Given the description of an element on the screen output the (x, y) to click on. 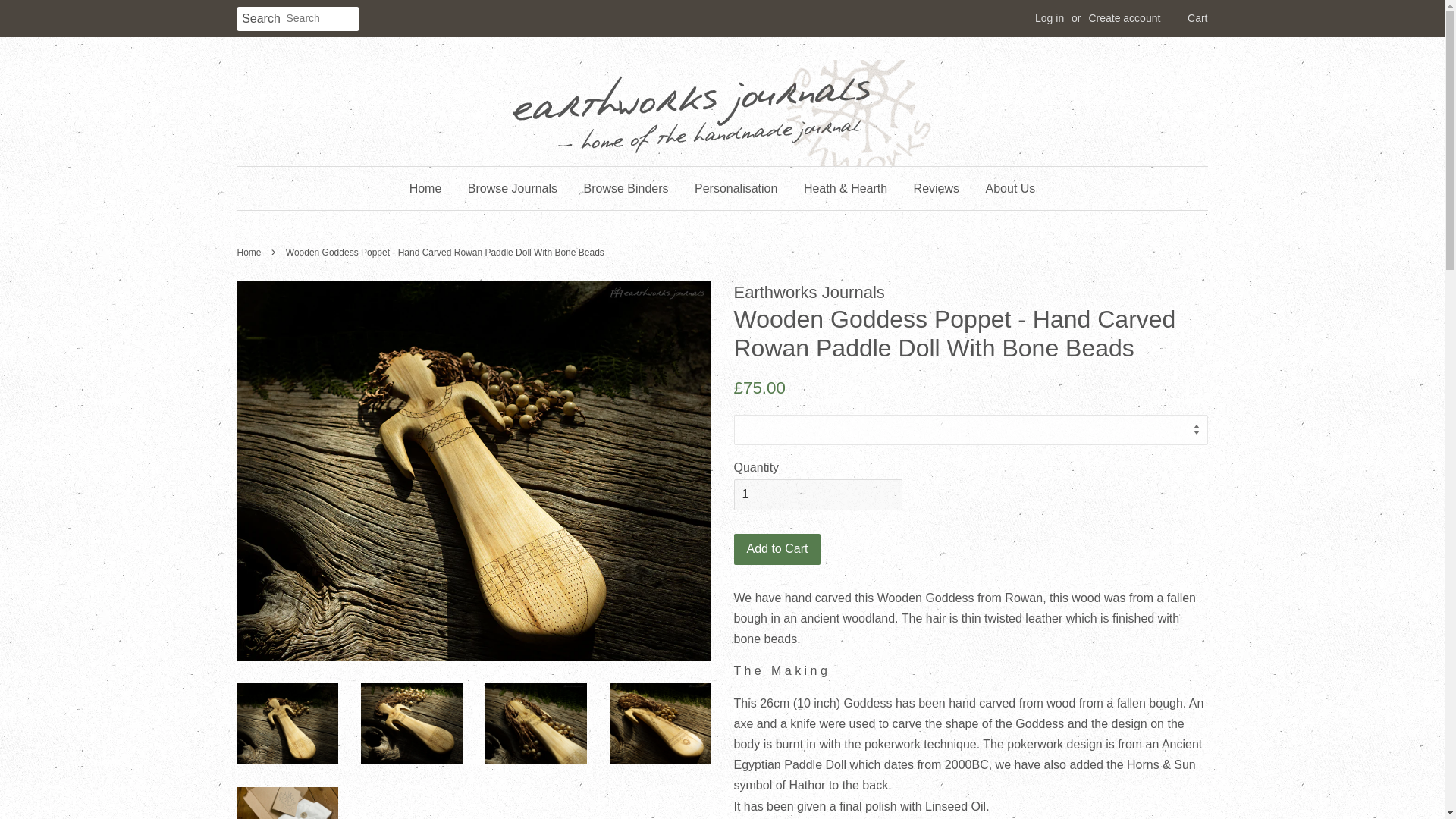
Log in (1049, 18)
Search (260, 18)
Cart (1197, 18)
Create account (1123, 18)
Back to the frontpage (249, 252)
1 (817, 494)
